Given the description of an element on the screen output the (x, y) to click on. 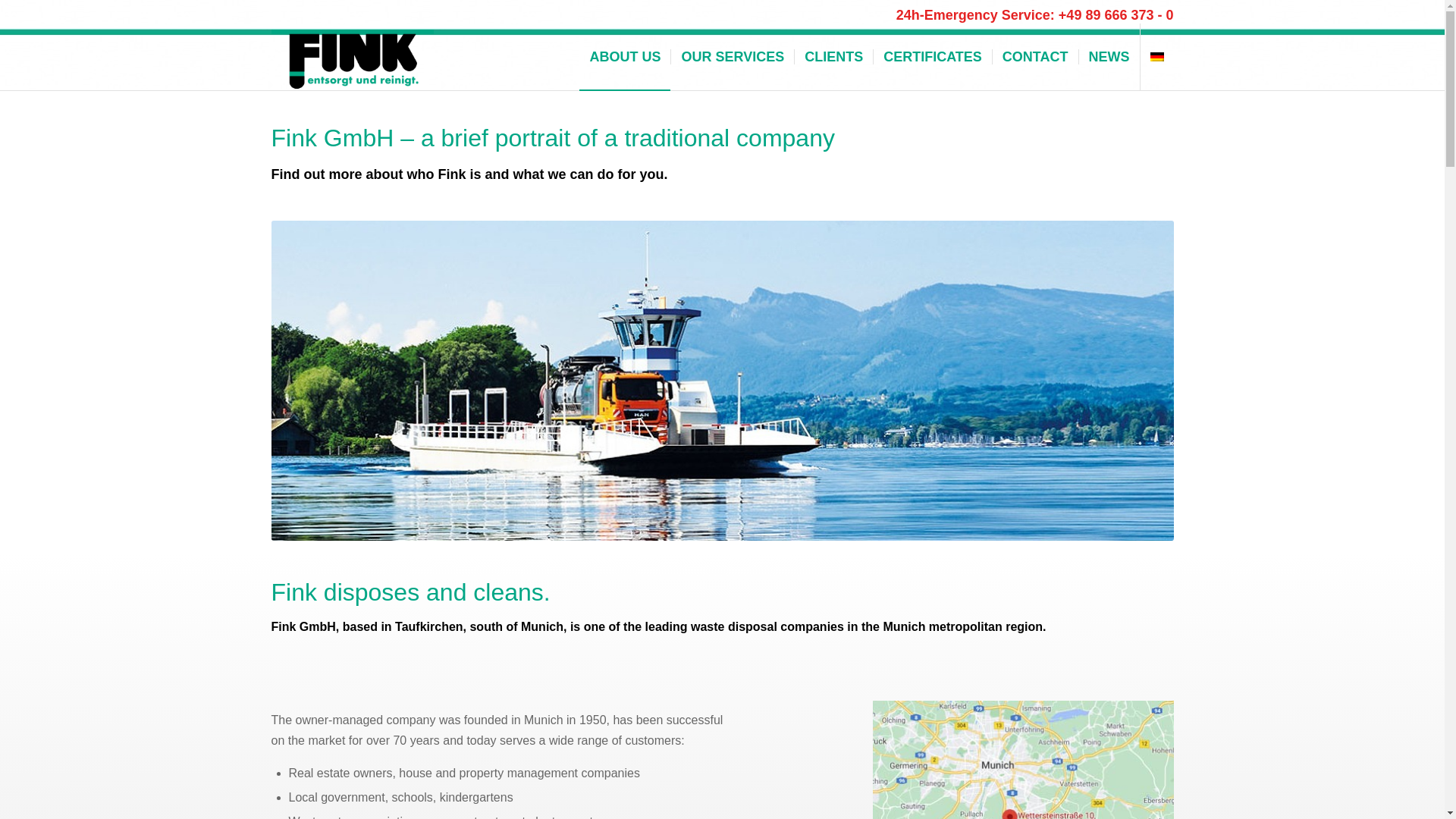
CERTIFICATES (931, 56)
CLIENTS (832, 56)
CONTACT (1034, 56)
NEWS (1109, 56)
ABOUT US (624, 56)
OUR SERVICES (731, 56)
